Given the description of an element on the screen output the (x, y) to click on. 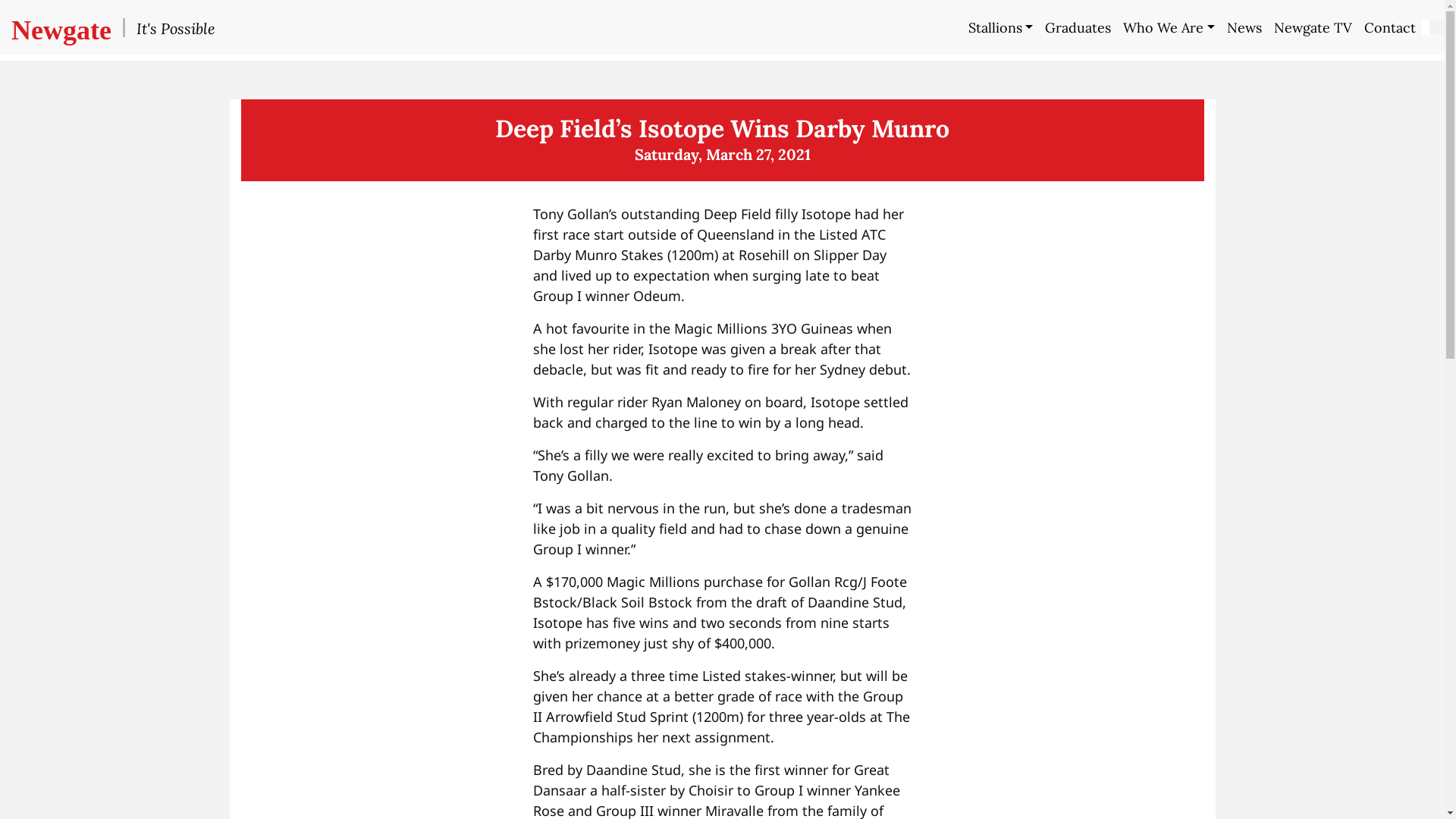
Graduates Element type: text (1077, 26)
Who We Are Element type: text (1168, 26)
News Element type: text (1243, 26)
Newgate TV Element type: text (1312, 26)
Stallions Element type: text (1000, 26)
Contact Element type: text (1389, 26)
